Given the description of an element on the screen output the (x, y) to click on. 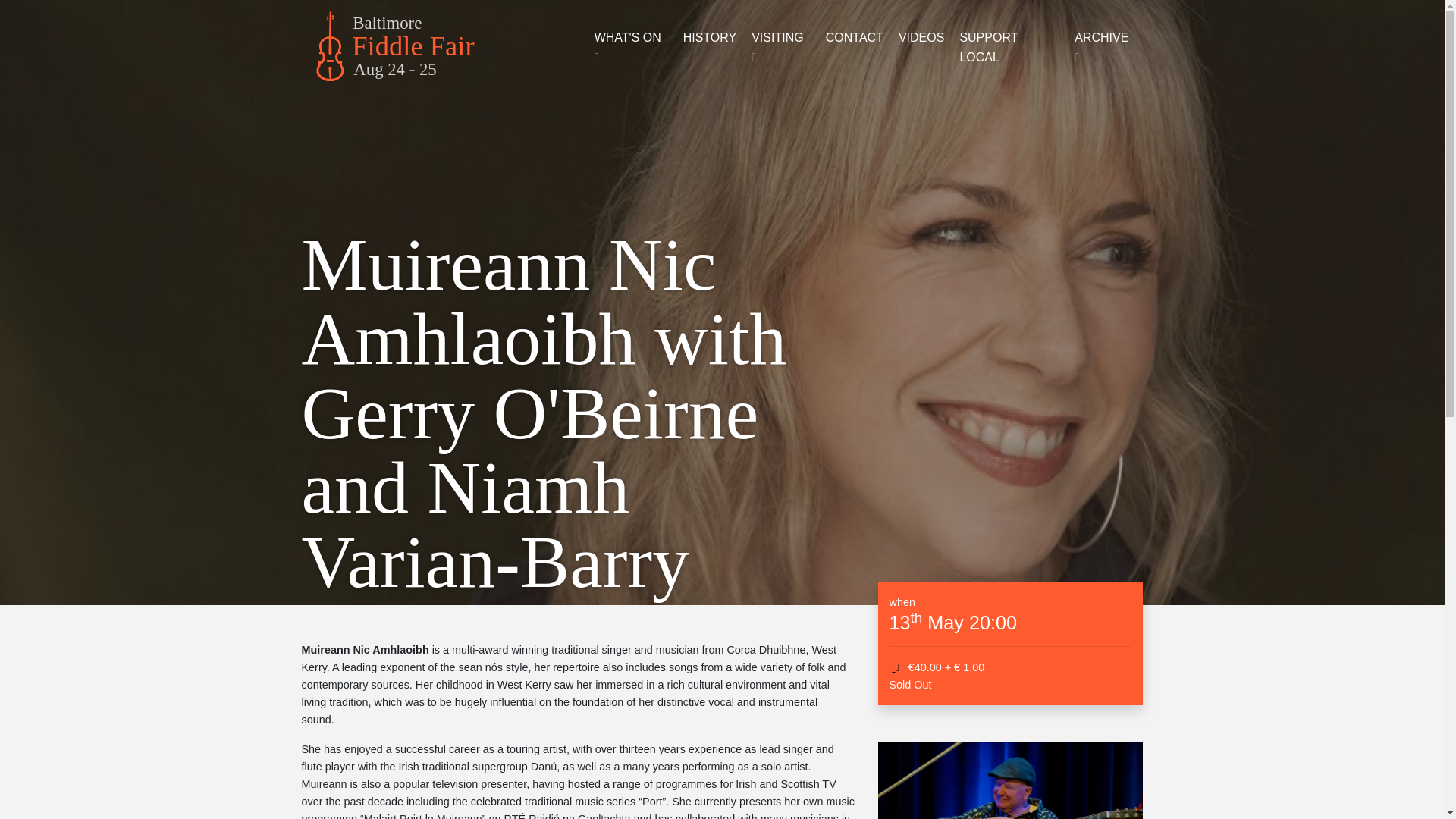
WHAT'S ON (630, 46)
VISITING (443, 47)
SUPPORT LOCAL (781, 46)
ARCHIVE (443, 46)
CONTACT (1009, 46)
VIDEOS (1104, 46)
HISTORY (854, 37)
